Given the description of an element on the screen output the (x, y) to click on. 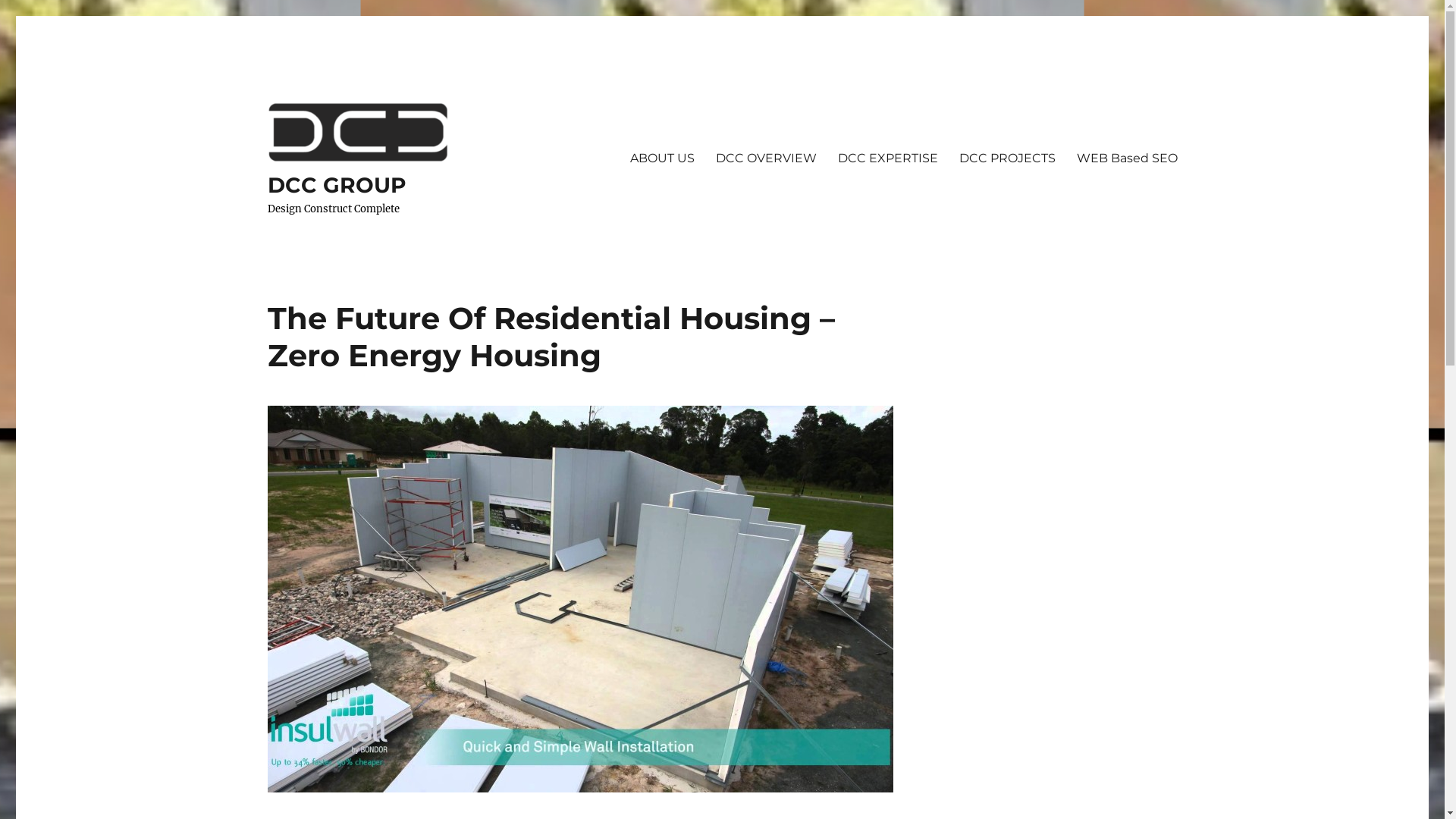
DCC OVERVIEW Element type: text (766, 157)
DCC GROUP Element type: text (335, 184)
ABOUT US Element type: text (661, 157)
DCC PROJECTS Element type: text (1006, 157)
WEB Based SEO Element type: text (1127, 157)
DCC EXPERTISE Element type: text (886, 157)
